Given the description of an element on the screen output the (x, y) to click on. 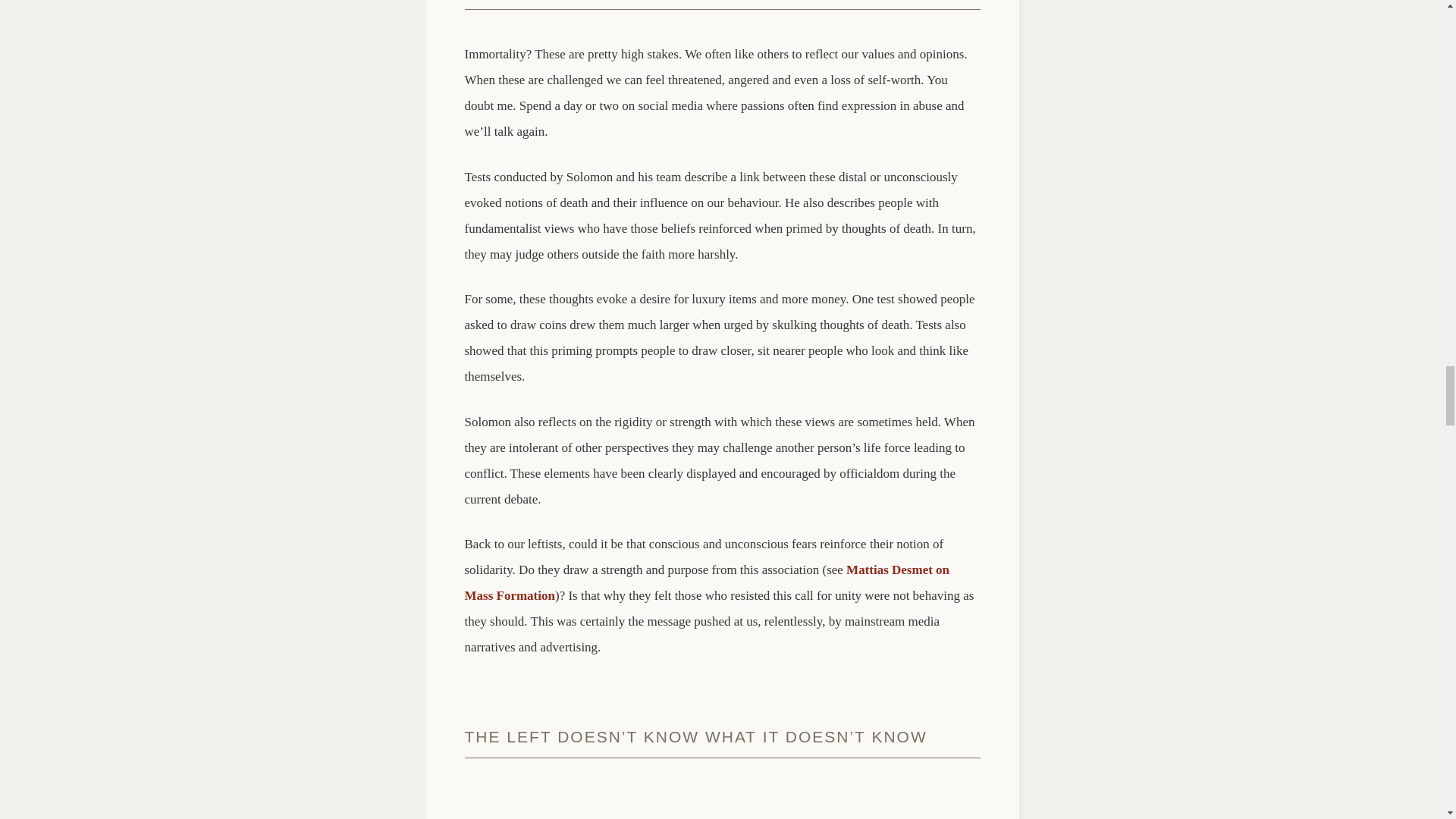
Mattias Desmet on Mass Formation (706, 582)
RSA ANIMATE: The Divided Brain (721, 804)
